Given the description of an element on the screen output the (x, y) to click on. 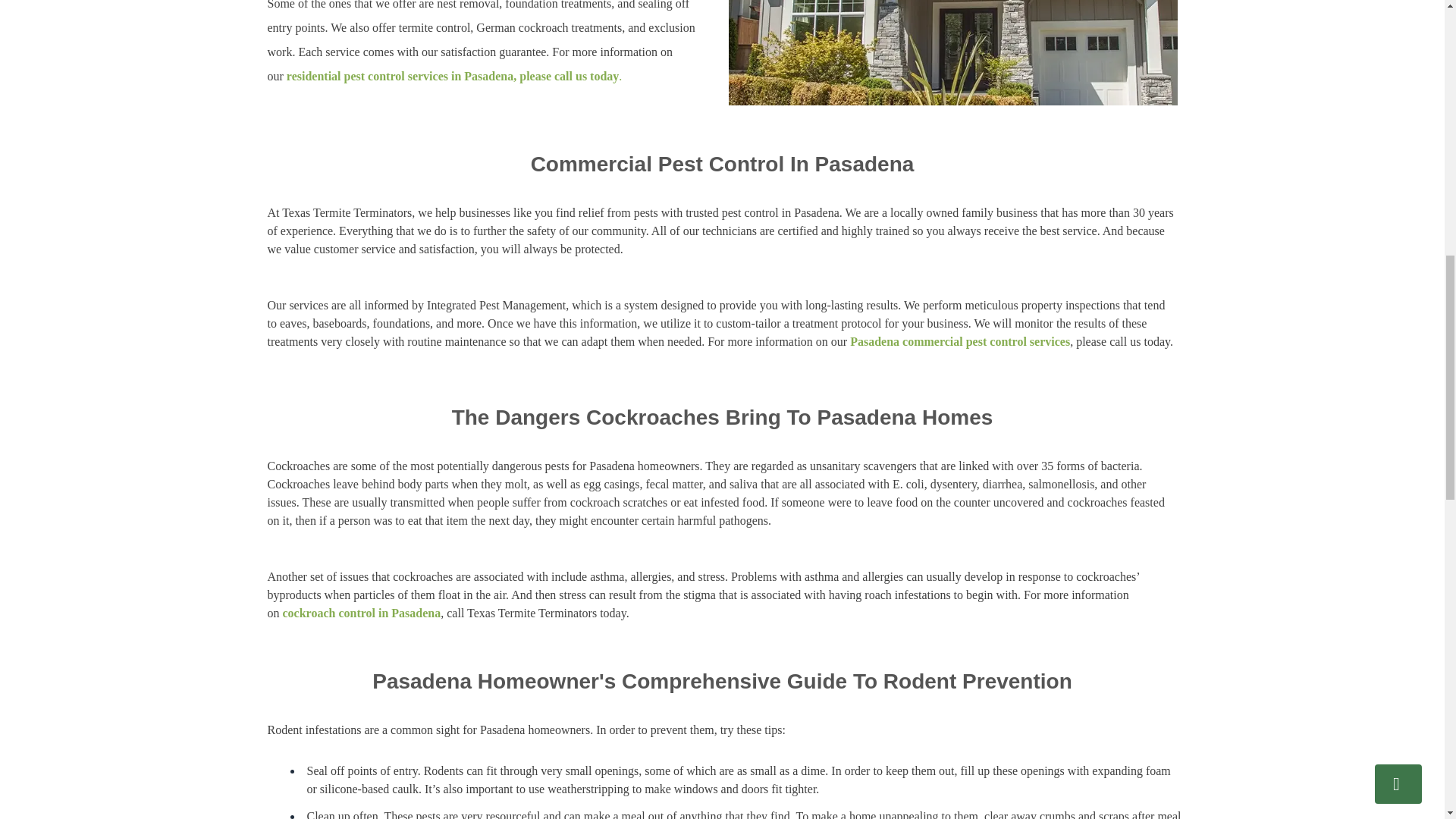
Pasadena commercial pest control services (960, 341)
Pasadena, please call us today (541, 75)
residential pest control services in (373, 75)
cockroach control in Pasadena (361, 612)
